Given the description of an element on the screen output the (x, y) to click on. 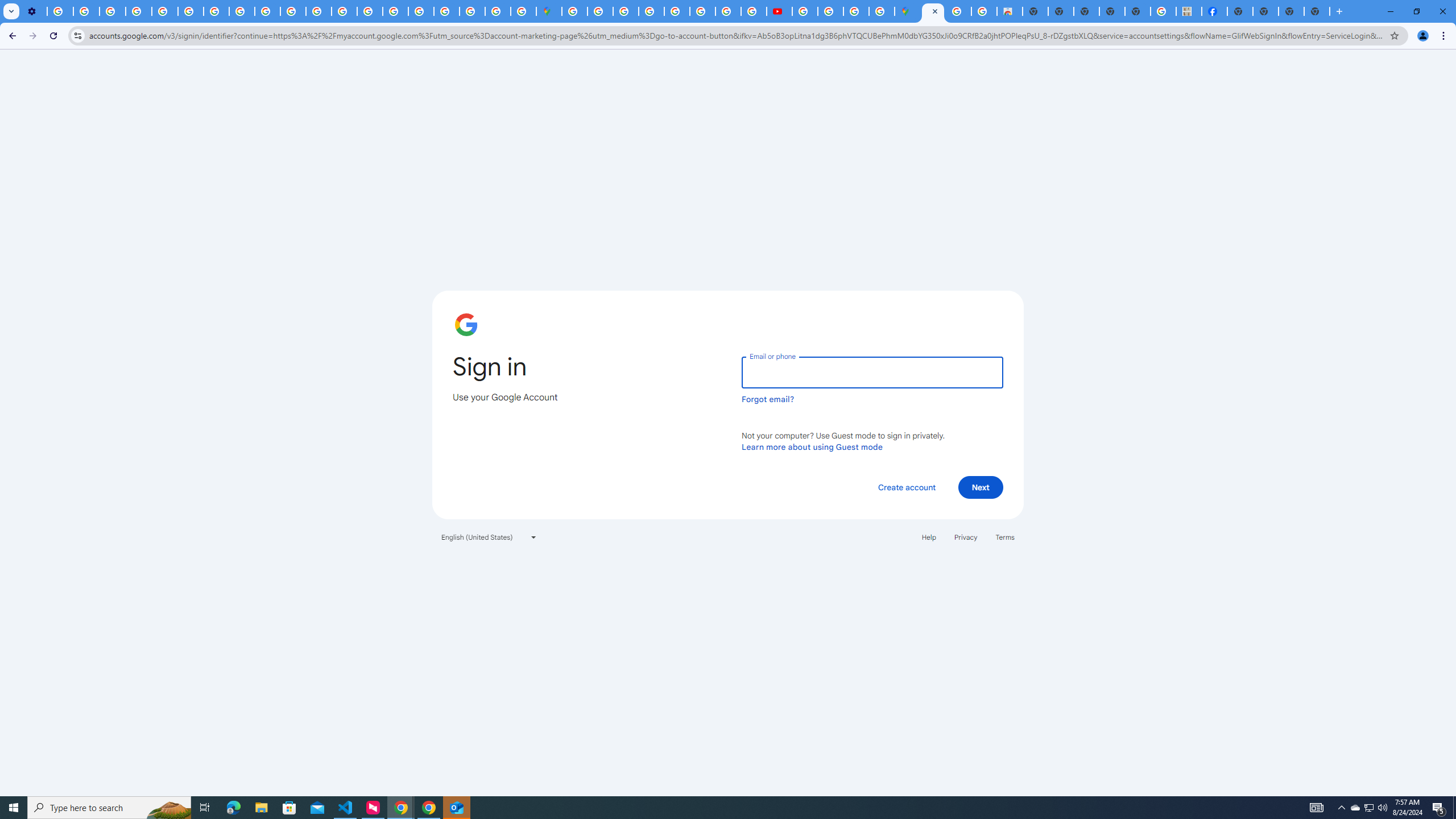
Privacy Help Center - Policies Help (702, 11)
Chrome (1445, 35)
New Tab (1316, 11)
Subscriptions - YouTube (779, 11)
Next (980, 486)
Forgot email? (767, 398)
